Given the description of an element on the screen output the (x, y) to click on. 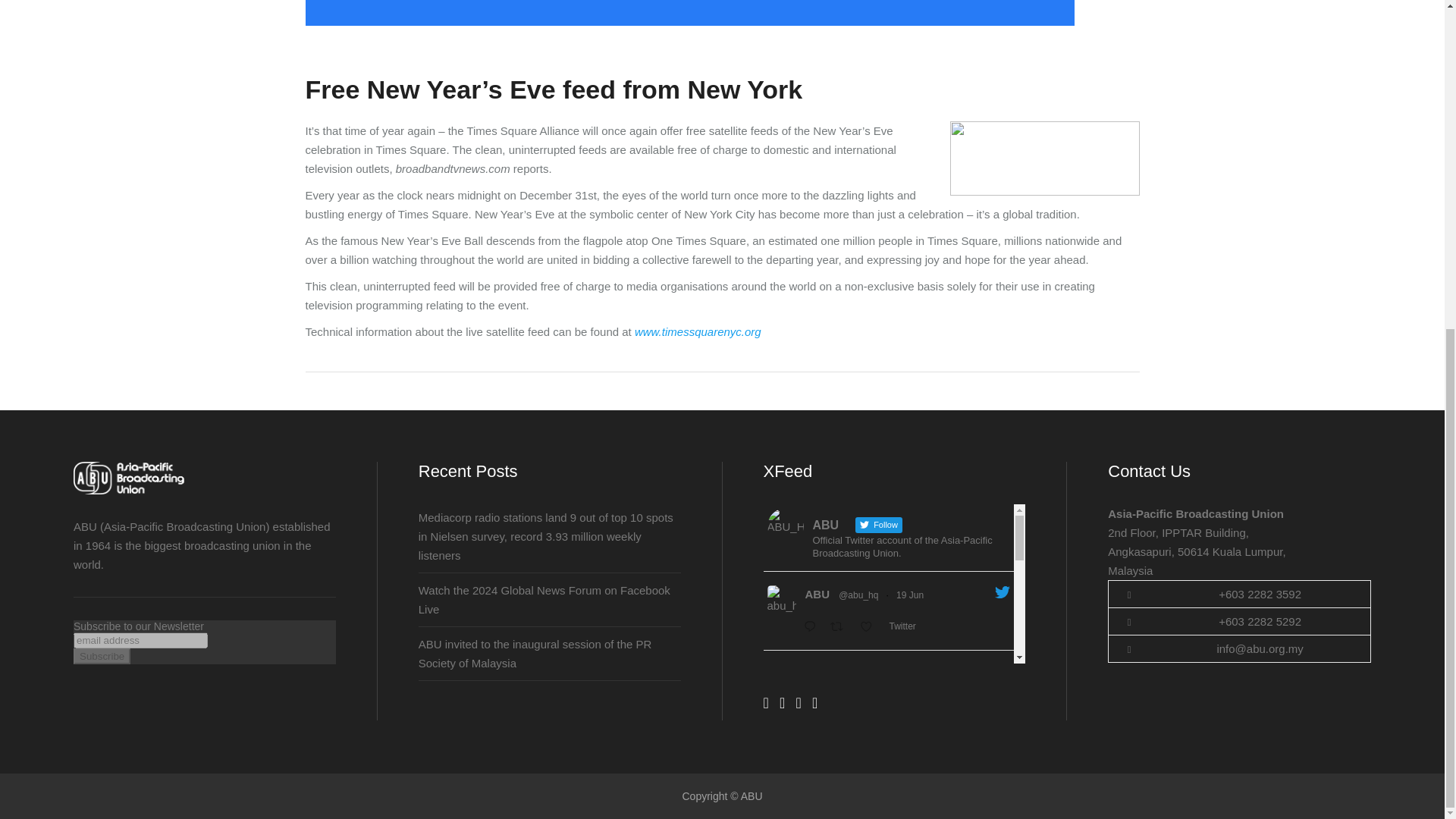
Subscribe (102, 656)
